Given the description of an element on the screen output the (x, y) to click on. 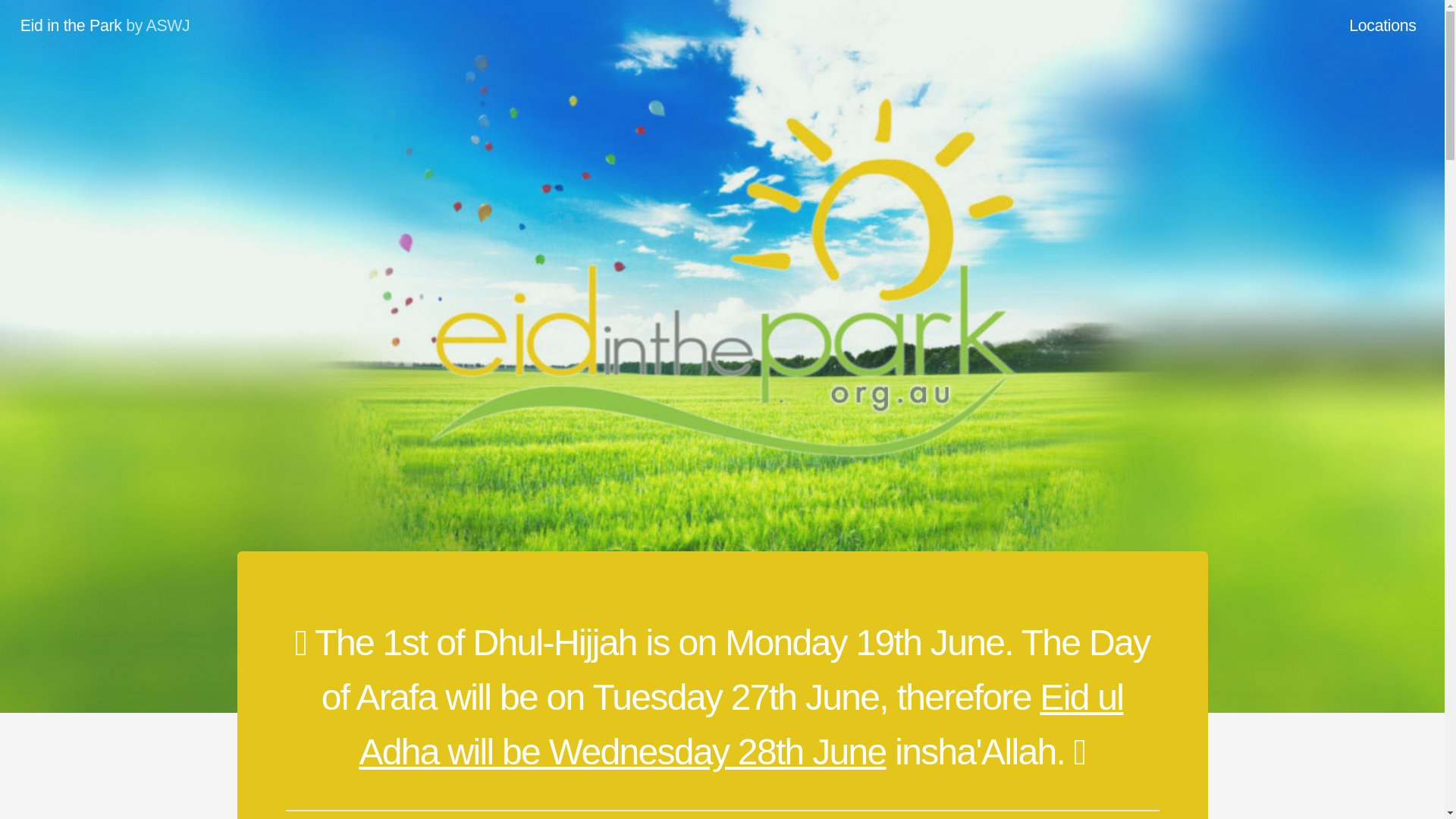
Locations Element type: text (1382, 26)
ASWJ Element type: text (167, 25)
Eid in the Park Element type: text (71, 25)
